Given the description of an element on the screen output the (x, y) to click on. 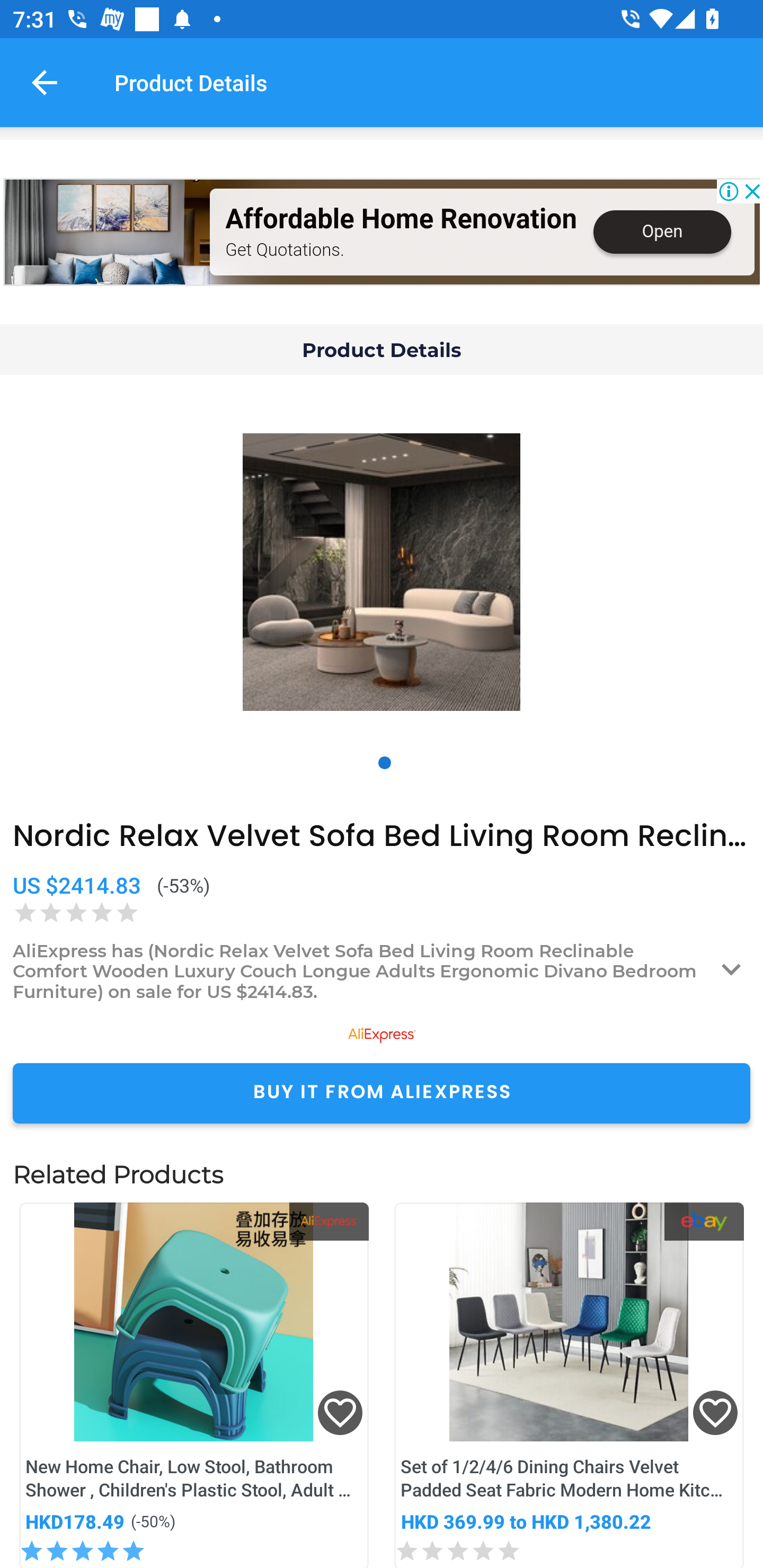
Navigate up (44, 82)
free-quote (107, 231)
Affordable Home Renovation (400, 219)
Open (661, 232)
Get Quotations. (284, 249)
BUY IT FROM ALIEXPRESS (381, 1093)
